Given the description of an element on the screen output the (x, y) to click on. 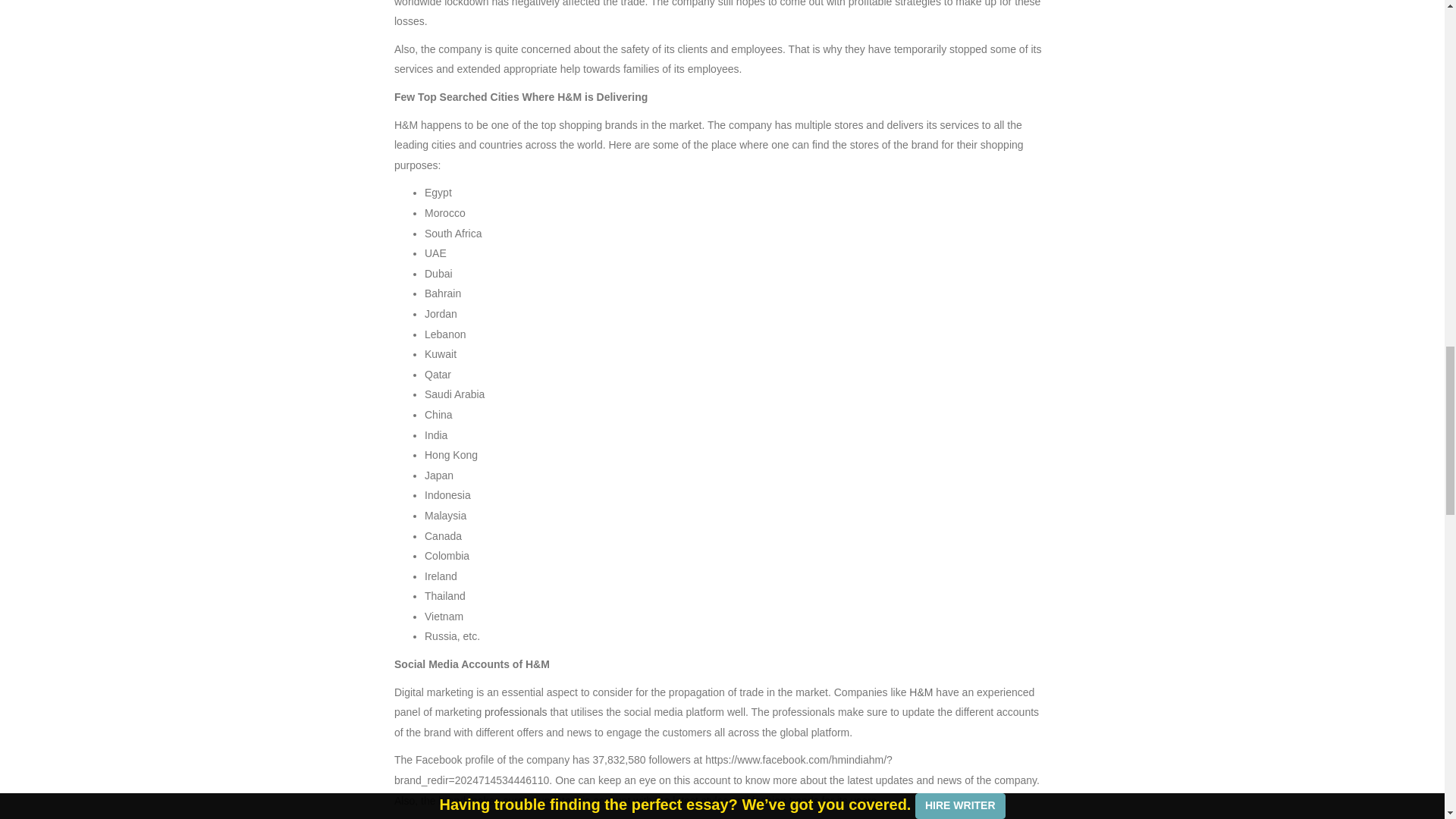
professionals (515, 711)
